Given the description of an element on the screen output the (x, y) to click on. 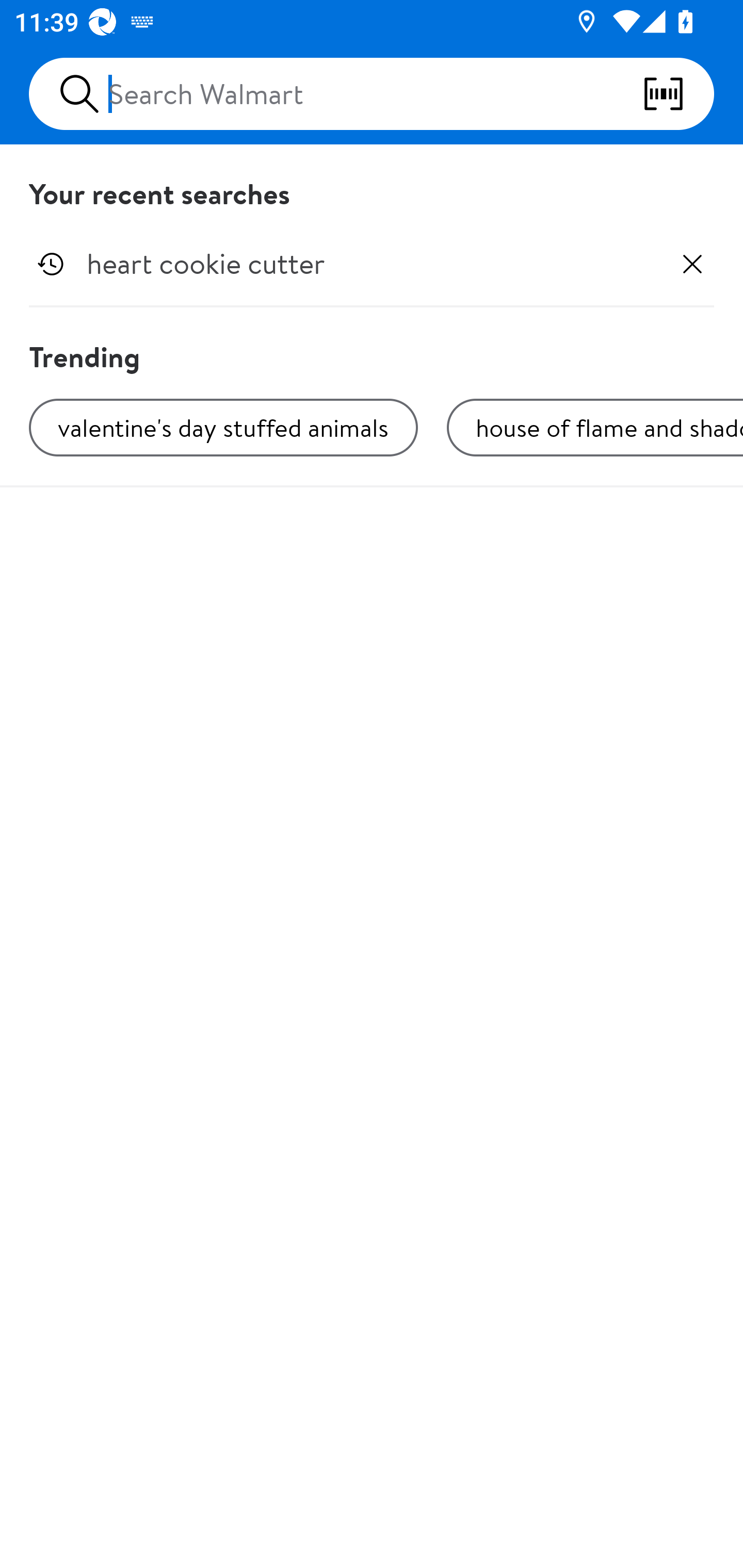
Search Walmart scan barcodes qr codes and more (371, 94)
scan barcodes qr codes and more (677, 94)
Remove recent search for heart cookie cutter (692, 264)
